Given the description of an element on the screen output the (x, y) to click on. 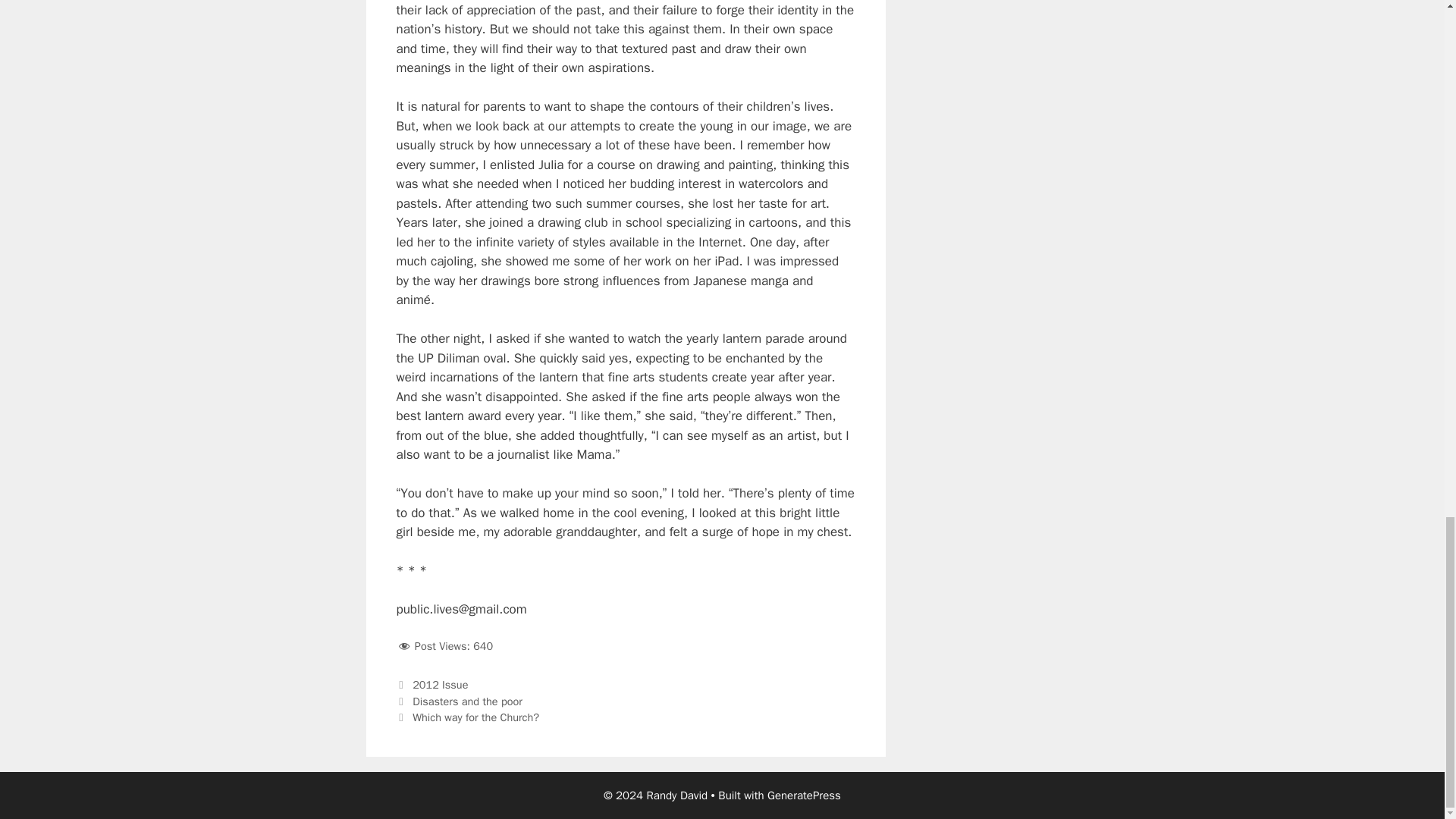
2012 Issue (439, 684)
Scroll back to top (1406, 114)
Disasters and the poor (467, 701)
